Given the description of an element on the screen output the (x, y) to click on. 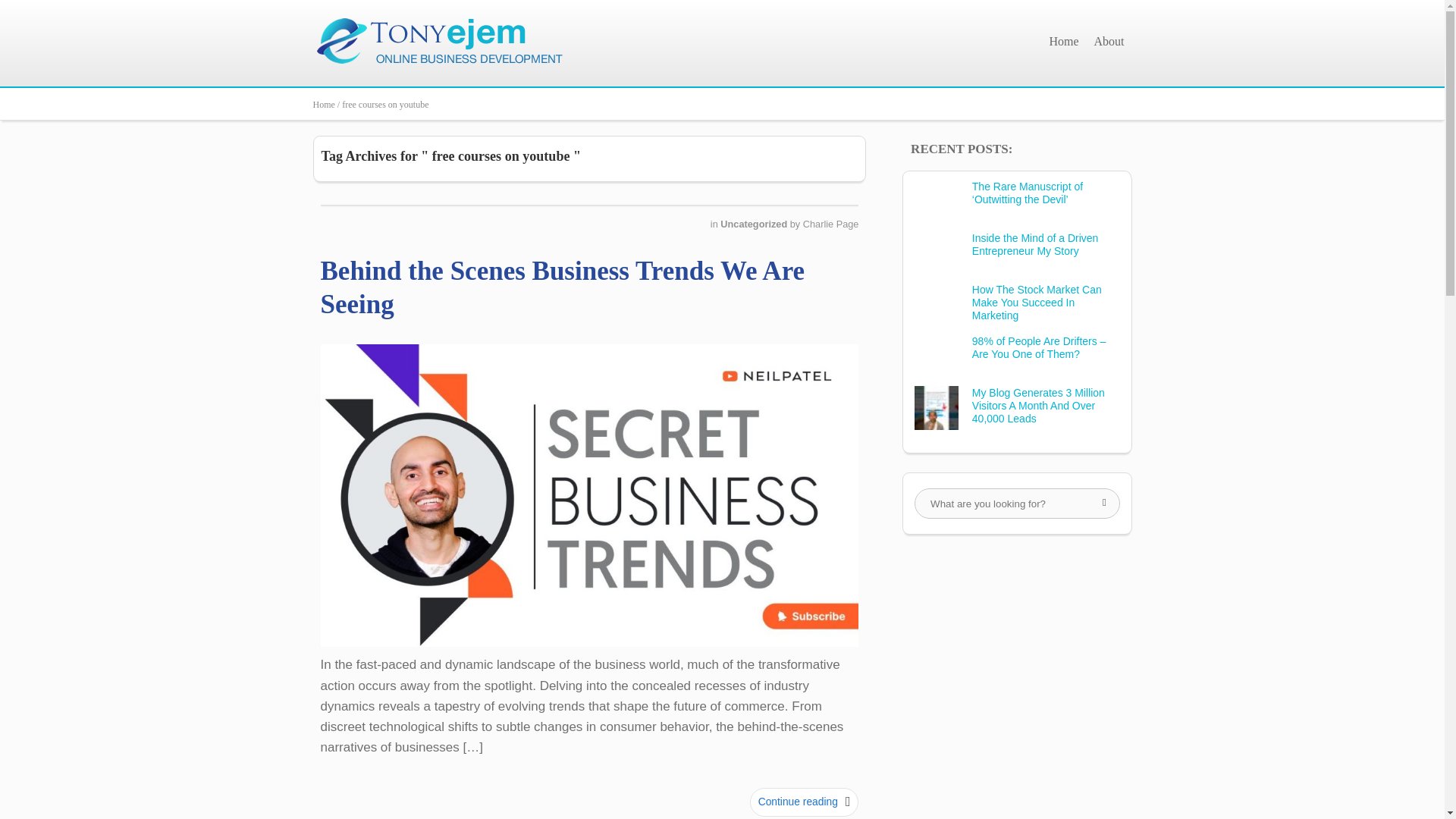
Inside the Mind of a Driven Entrepreneur My Story (1035, 244)
Charlie Page (831, 224)
Behind the Scenes Business Trends We Are Seeing (562, 287)
Uncategorized (754, 224)
How The Stock Market Can Make You Succeed In Marketing (1037, 302)
Home (1063, 41)
About (1108, 41)
